Given the description of an element on the screen output the (x, y) to click on. 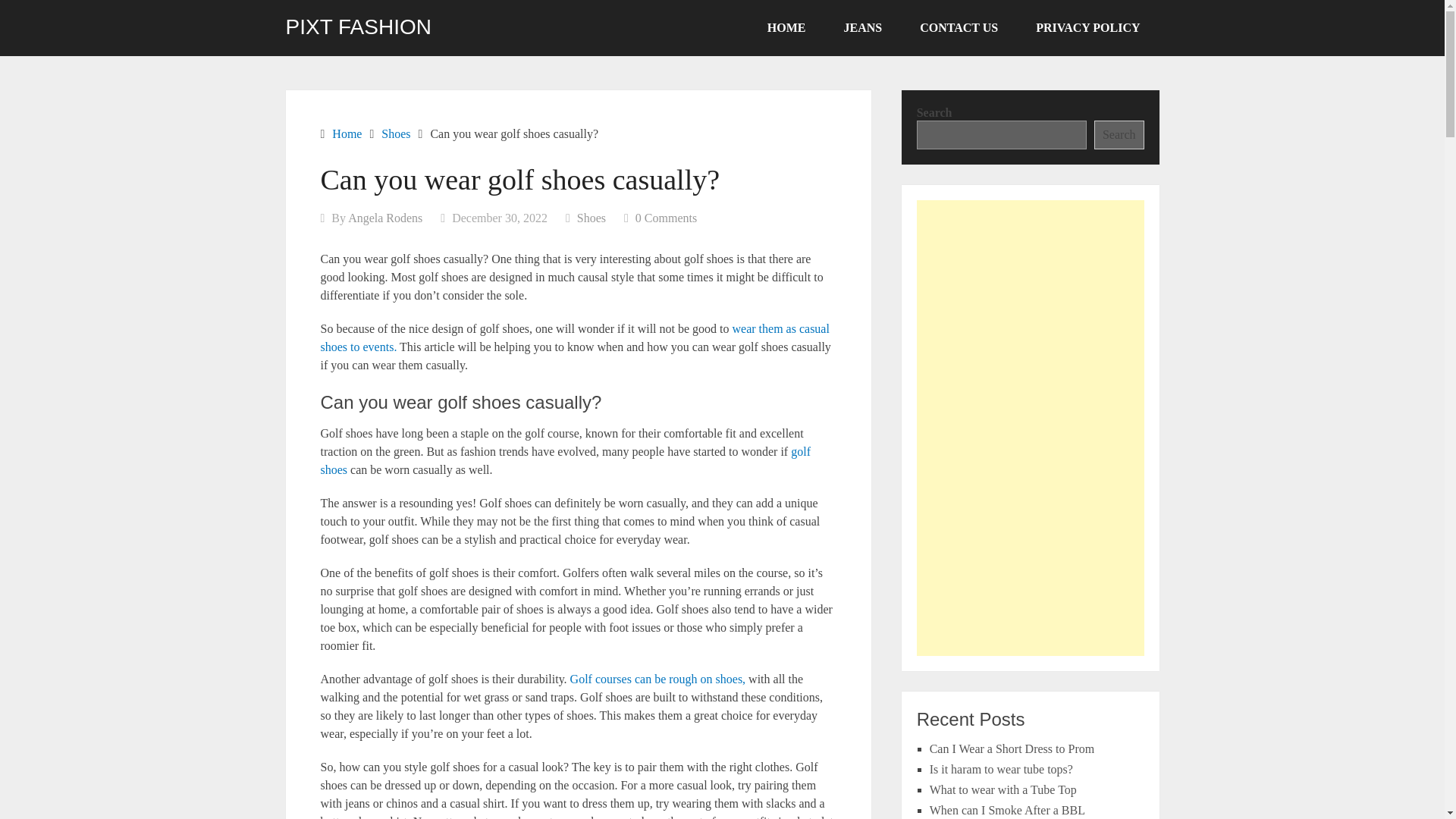
Posts by Angela Rodens (384, 217)
Shoes (395, 133)
wear them as casual shoes to events. (574, 337)
Golf courses can be rough on shoes, (657, 678)
Search (1119, 134)
When can I Smoke After a BBL (1007, 809)
HOME (786, 28)
Angela Rodens (384, 217)
Home (346, 133)
What to wear with a Tube Top (1003, 789)
